Given the description of an element on the screen output the (x, y) to click on. 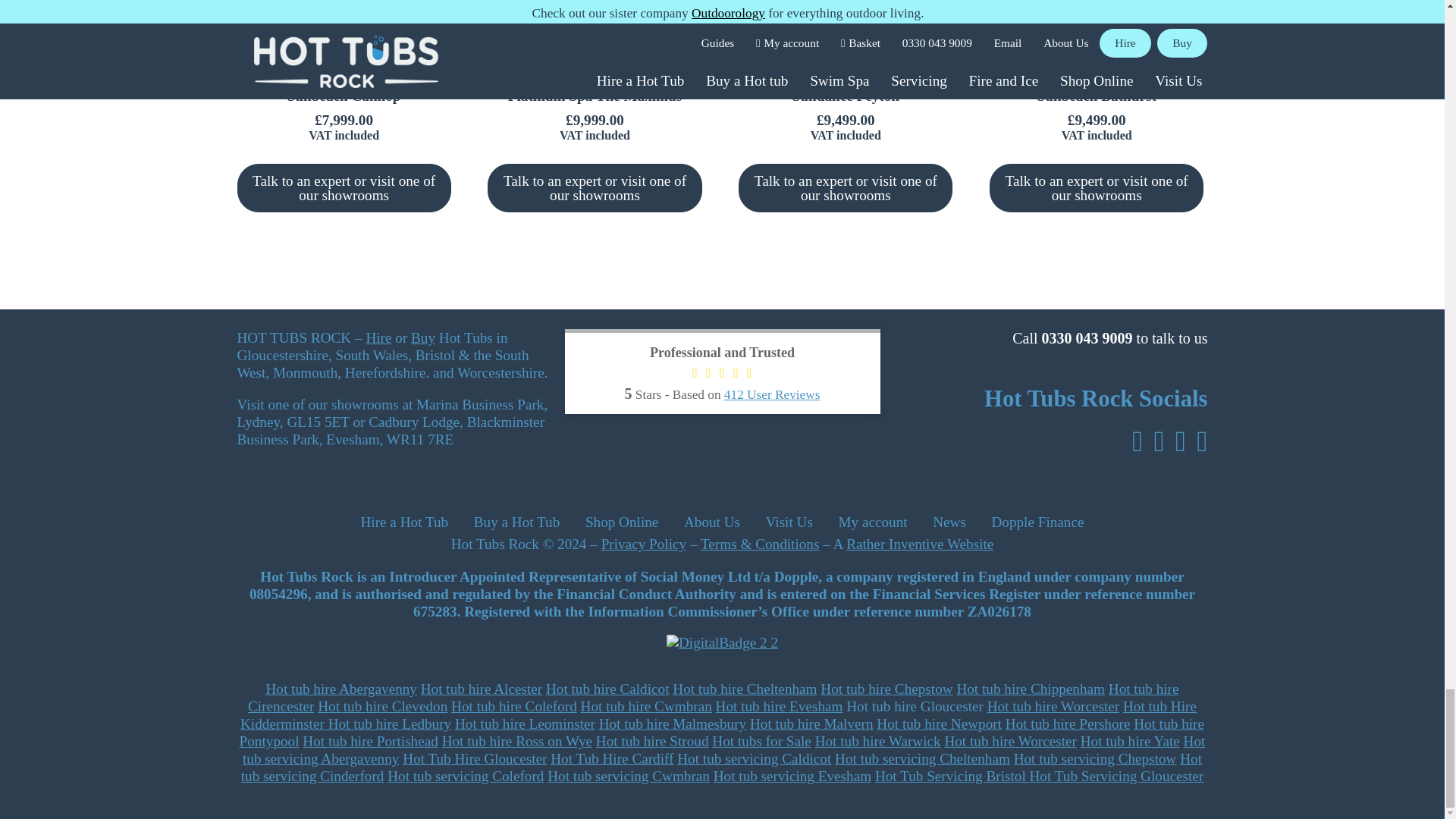
User Reviews (772, 394)
